Given the description of an element on the screen output the (x, y) to click on. 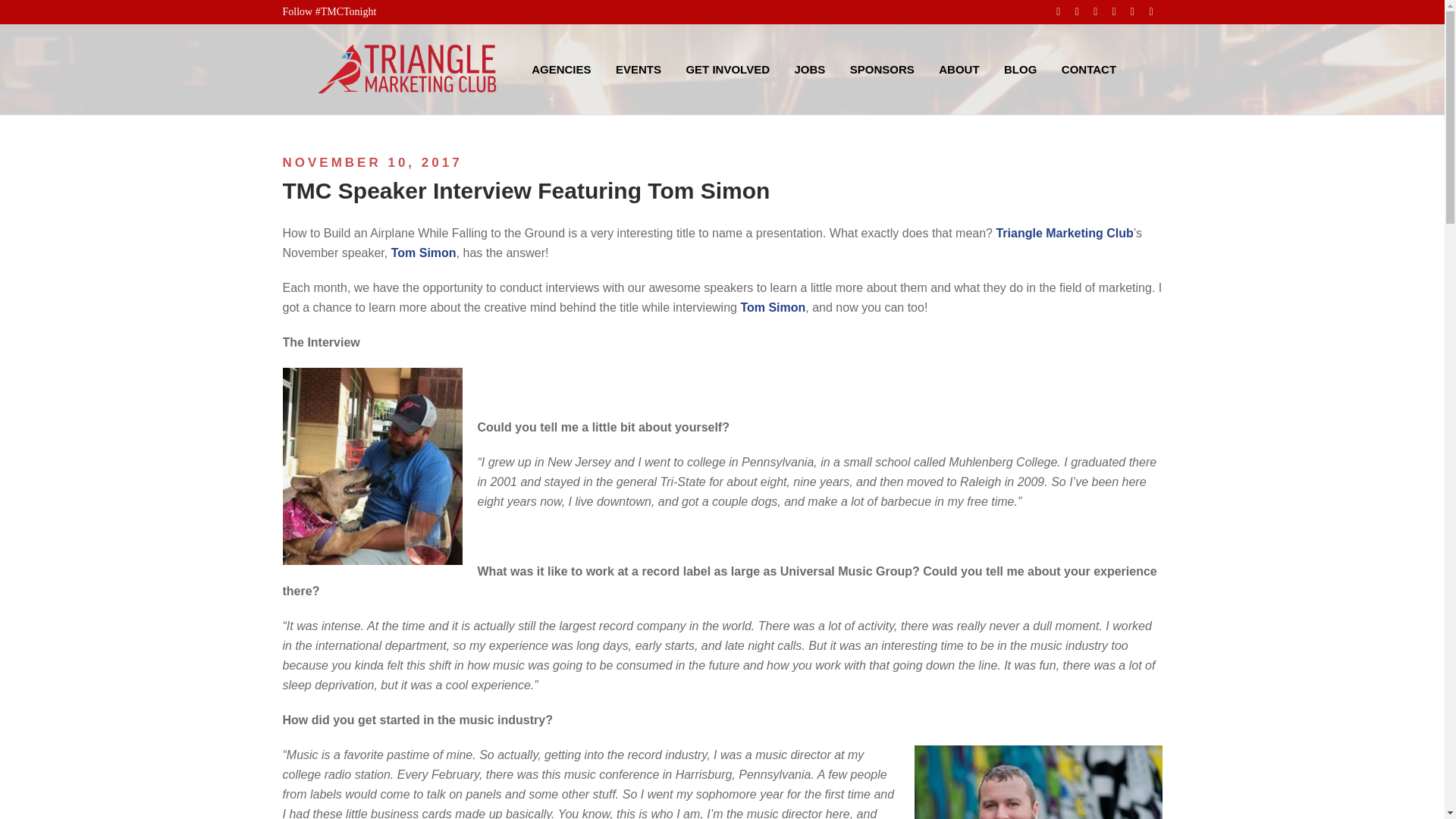
Triangle Marketing Club (1063, 232)
November 10, 2017 (371, 162)
ABOUT (958, 68)
JOBS (809, 68)
BLOG (1020, 68)
GET INVOLVED (727, 68)
Tom Simon (424, 252)
CONTACT (1087, 68)
Tom Simon (772, 307)
SPONSORS (882, 68)
EVENTS (638, 68)
AGENCIES (560, 68)
